Given the description of an element on the screen output the (x, y) to click on. 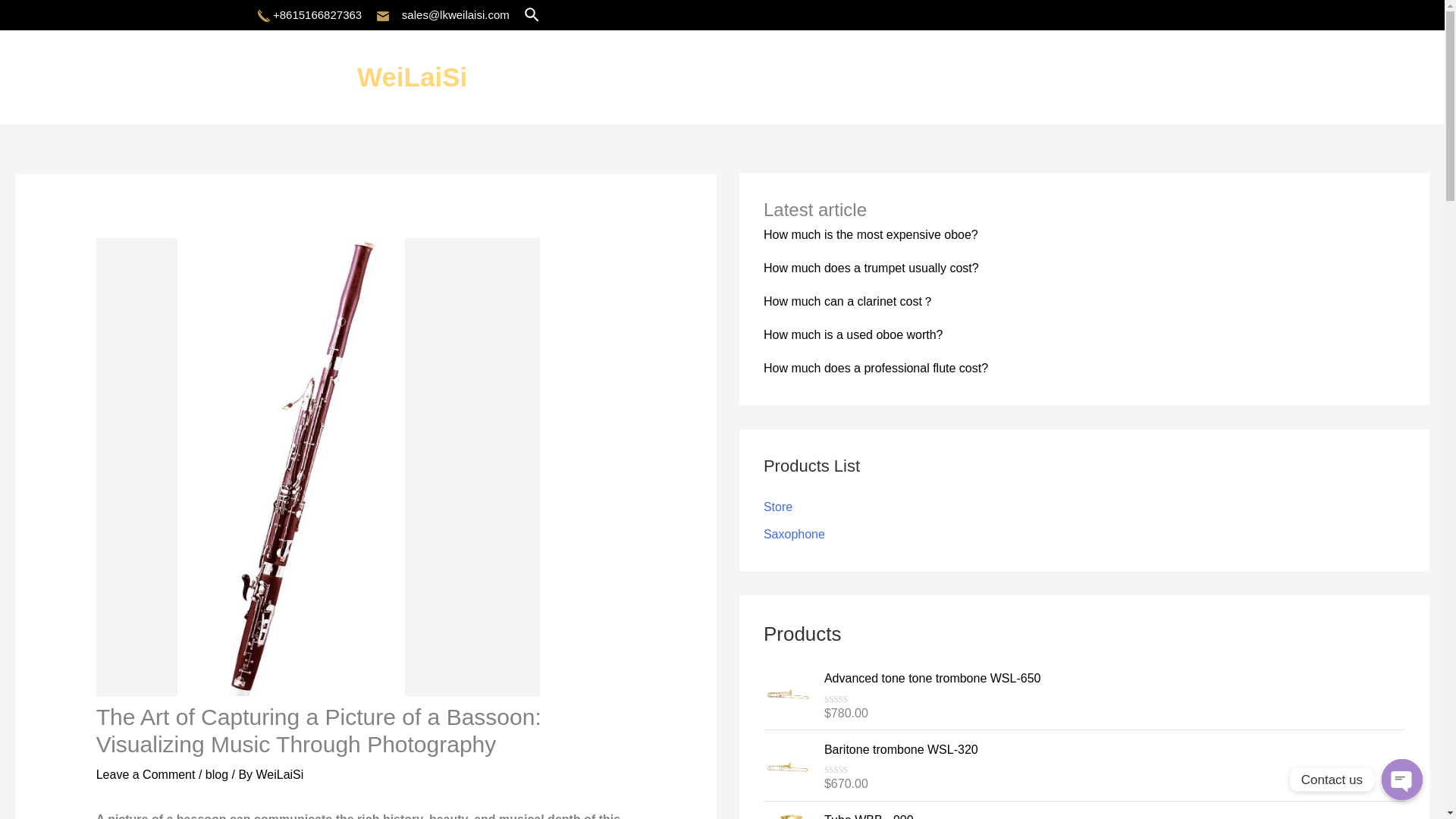
WeiLaiSi (280, 774)
ABOUT (1119, 76)
Advanced tone tone trombone WSL-650 (1114, 678)
How much does a trumpet usually cost? (870, 267)
WeiLaiSi (411, 76)
STORE (1225, 76)
How much is a used oboe worth? (852, 334)
How much does a professional flute cost? (875, 367)
Saxophone (793, 533)
blog (216, 774)
View all posts by WeiLaiSi (280, 774)
How much is the most expensive oboe? (870, 234)
HOME (1024, 76)
Leave a Comment (145, 774)
CONTACT US (1349, 76)
